Given the description of an element on the screen output the (x, y) to click on. 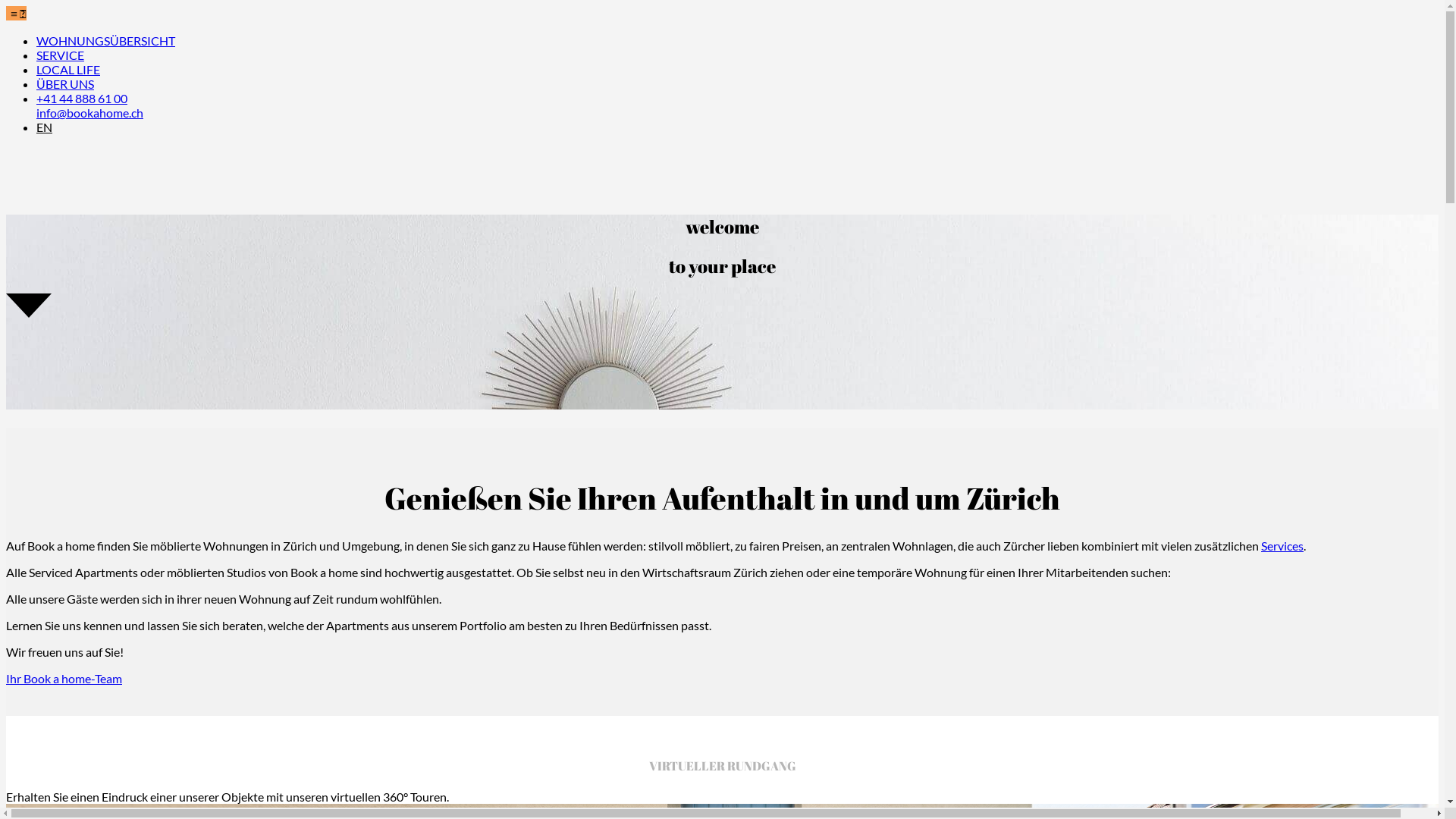
Ihr Book a home-Team Element type: text (64, 678)
+41 44 888 61 00 Element type: text (81, 98)
info@bookahome.ch Element type: text (89, 112)
SERVICE Element type: text (60, 54)
EN Element type: text (44, 126)
LOCAL LIFE Element type: text (68, 69)
Services Element type: text (1282, 545)
